Given the description of an element on the screen output the (x, y) to click on. 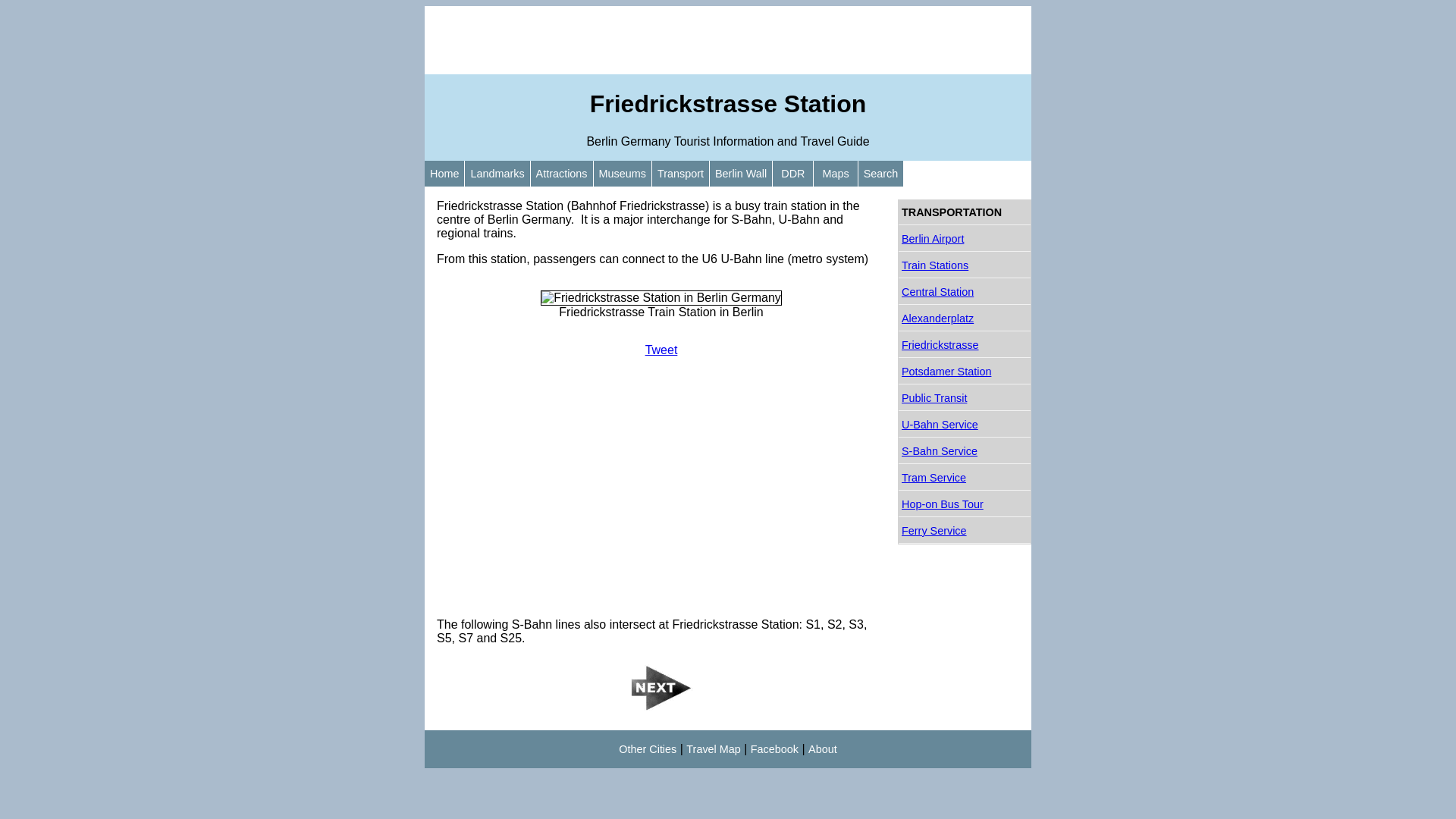
Alexanderplatz Element type: text (964, 318)
Tweet Element type: text (661, 349)
Berlin Wall Element type: text (740, 173)
Landmarks Element type: text (496, 173)
Travel Map Element type: text (713, 749)
Home Element type: text (444, 173)
Search Element type: text (880, 173)
Attractions Element type: text (561, 173)
Central Station Element type: text (964, 291)
TRANSPORTATION Element type: text (964, 212)
Transport Element type: text (680, 173)
Potsdamer Station Element type: text (964, 371)
About Element type: text (822, 749)
 Maps  Element type: text (834, 173)
 DDR  Element type: text (792, 173)
Hop-on Bus Tour Element type: text (964, 504)
Public Transit Element type: text (964, 398)
Train Stations Element type: text (964, 265)
Berlin Airport Element type: text (964, 238)
Friedrickstrasse Element type: text (964, 344)
S-Bahn Service Element type: text (964, 451)
Other Cities Element type: text (647, 749)
Tram Service Element type: text (964, 477)
U-Bahn Service Element type: text (964, 424)
Facebook Element type: text (774, 749)
Ferry Service Element type: text (964, 530)
Museums Element type: text (622, 173)
